Given the description of an element on the screen output the (x, y) to click on. 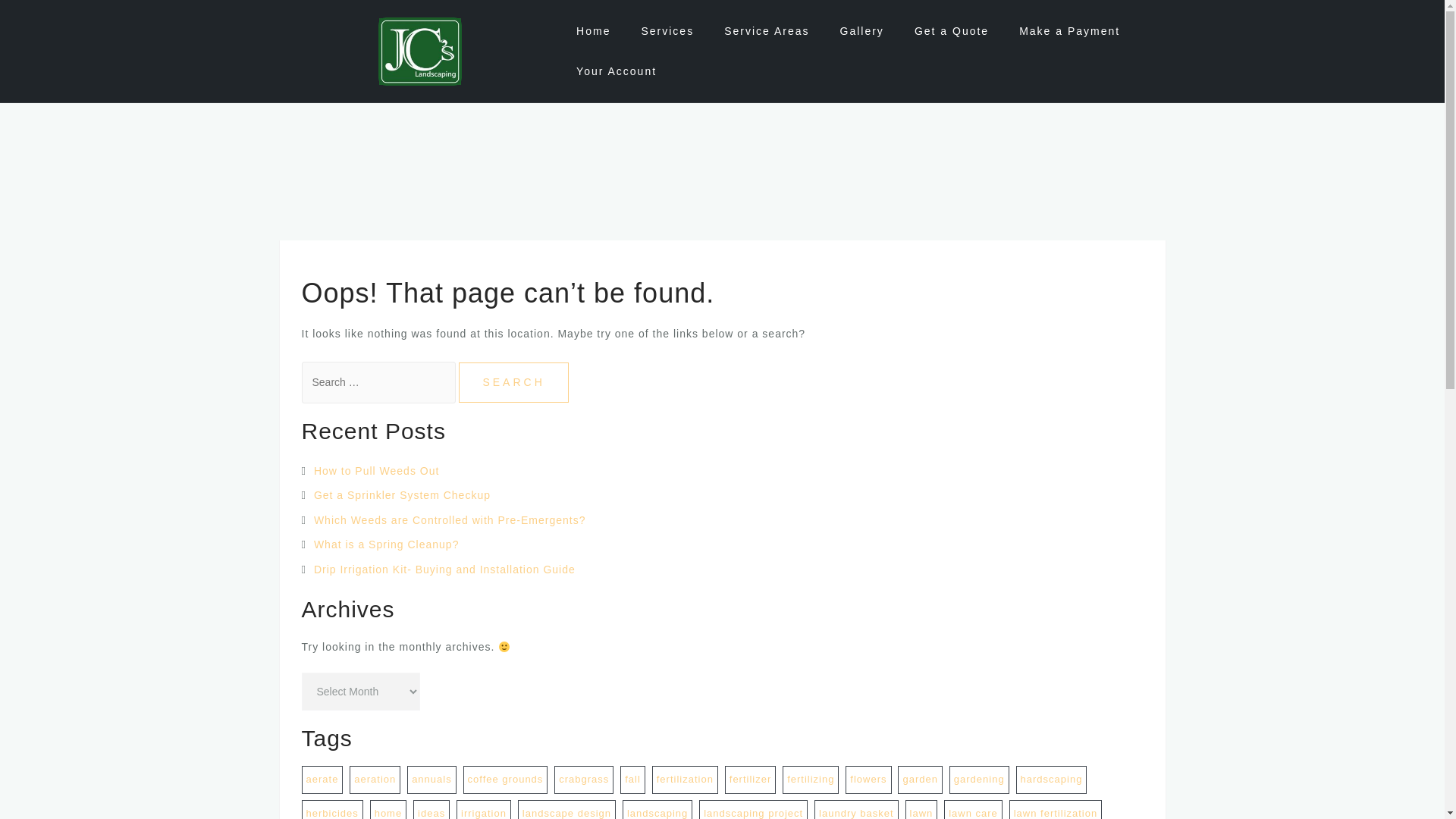
Service Areas (766, 31)
Home (593, 31)
Services (667, 31)
Your Account (616, 71)
Get a Quote (951, 31)
Gallery (861, 31)
How to Pull Weeds Out (376, 470)
Search (512, 382)
Get a Sprinkler System Checkup (402, 494)
Make a Payment (1069, 31)
Search (512, 382)
Search (512, 382)
